Given the description of an element on the screen output the (x, y) to click on. 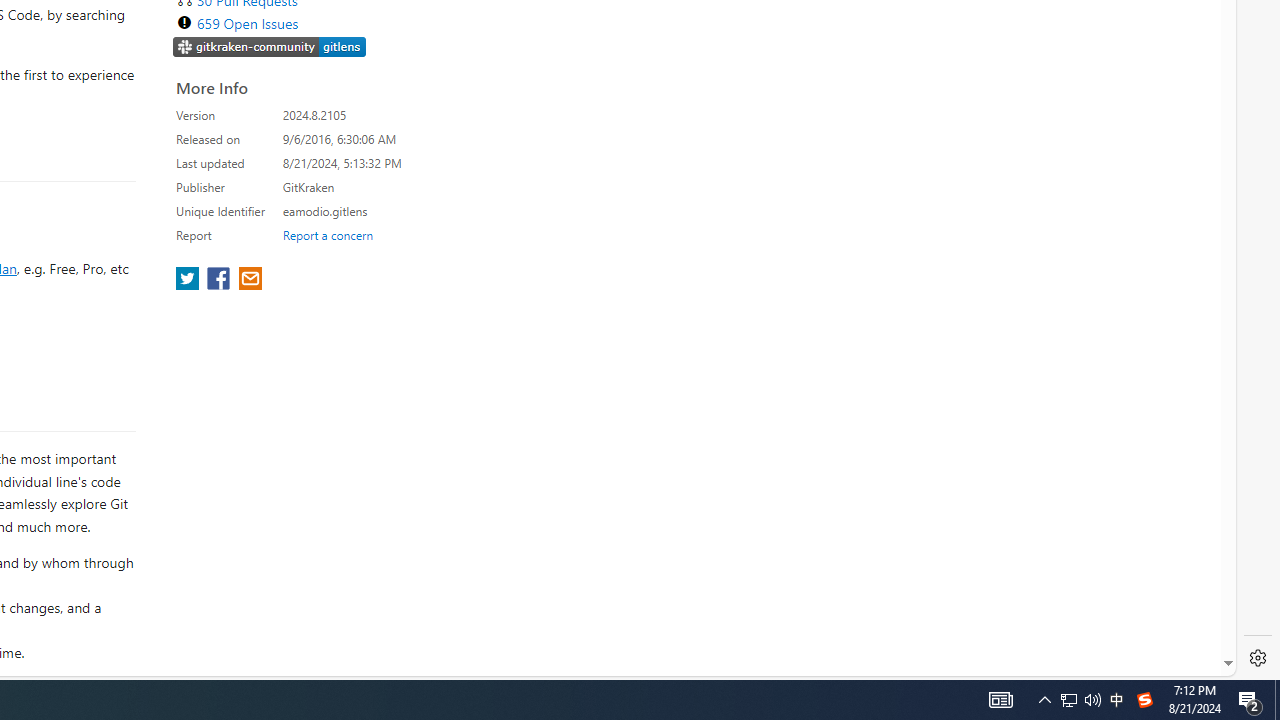
https://slack.gitkraken.com// (269, 46)
https://slack.gitkraken.com// (269, 48)
Report a concern (327, 234)
share extension on twitter (190, 280)
share extension on email (249, 280)
share extension on facebook (220, 280)
